Given the description of an element on the screen output the (x, y) to click on. 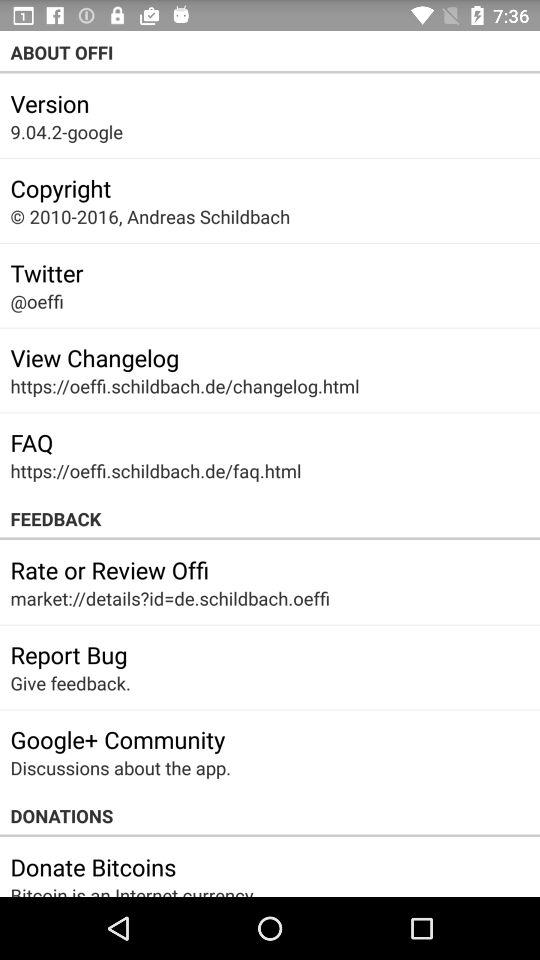
press the give feedback. item (70, 682)
